Given the description of an element on the screen output the (x, y) to click on. 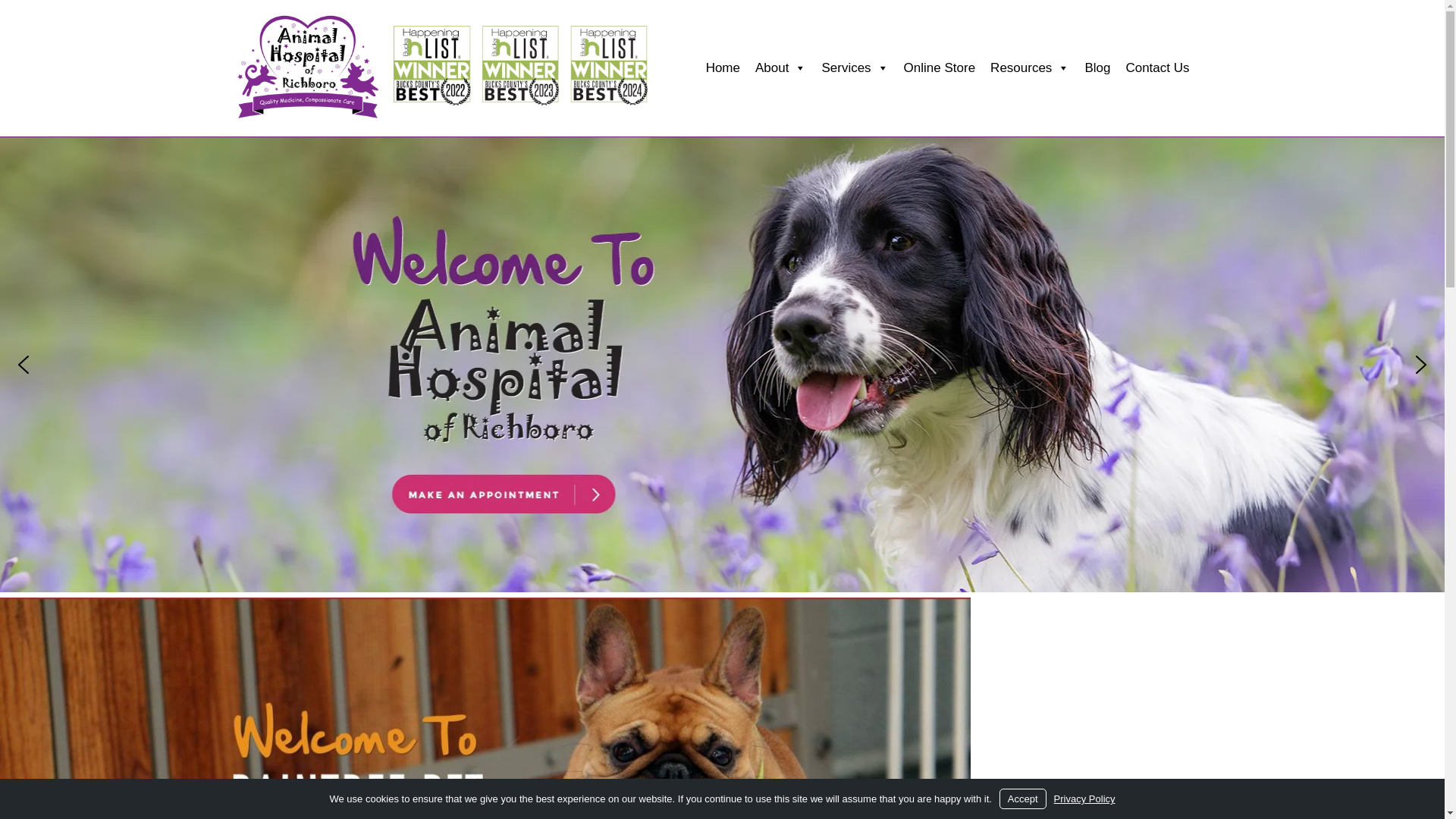
Services (854, 68)
About (780, 68)
Online Store (940, 68)
Resources (1029, 68)
Home (723, 68)
